Given the description of an element on the screen output the (x, y) to click on. 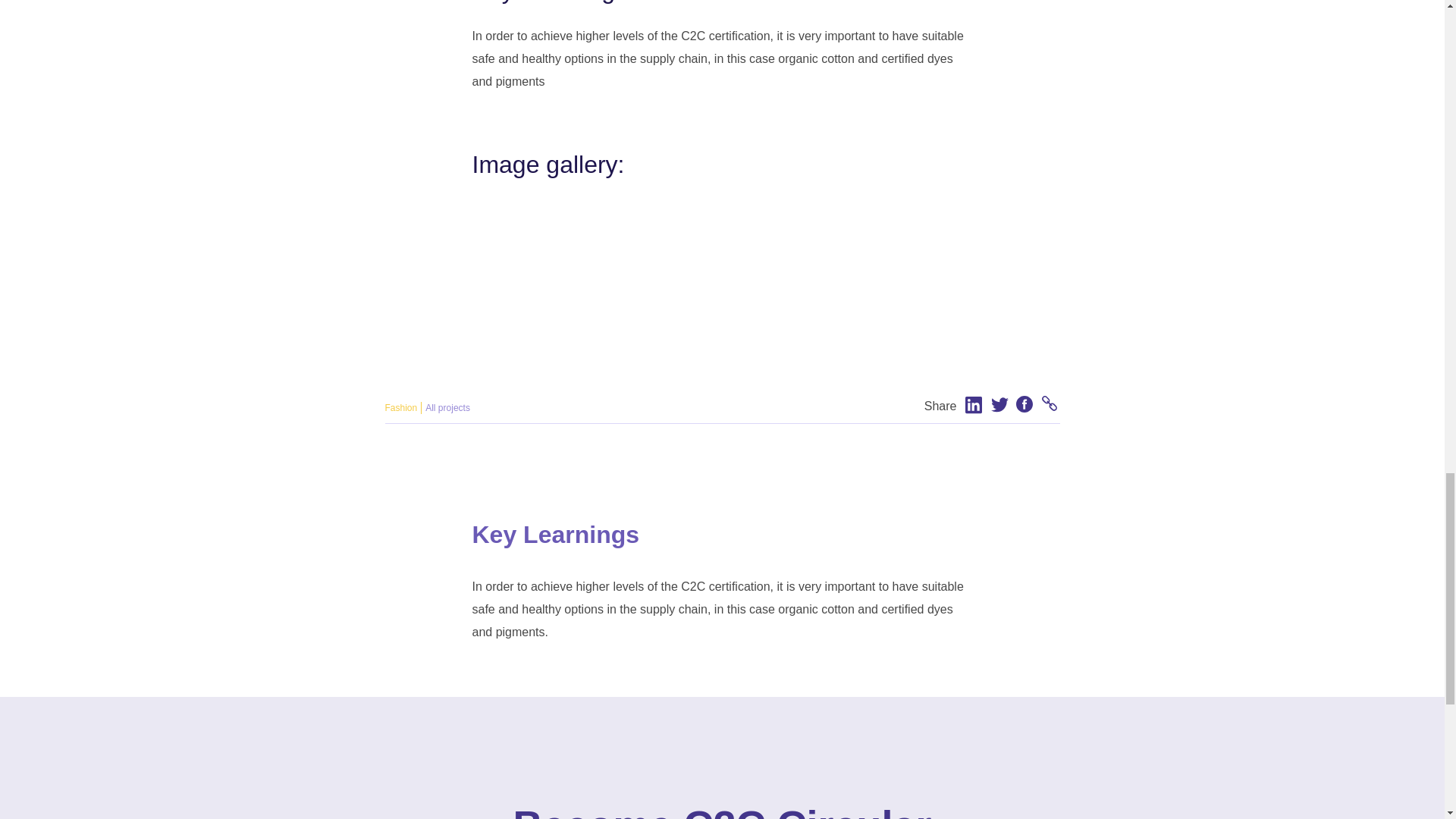
Facebook (1021, 404)
Share on Facebook (1021, 404)
Facebook (1024, 404)
Share on LinkedIn (969, 404)
Permalink (1046, 404)
Twitter (999, 404)
LinkedIn (969, 404)
Permalink (1046, 404)
Permalink (1050, 404)
LinkedIn (972, 404)
Twitter (995, 404)
Fashion (401, 407)
All projects (447, 407)
Share on Twitter (995, 404)
